Given the description of an element on the screen output the (x, y) to click on. 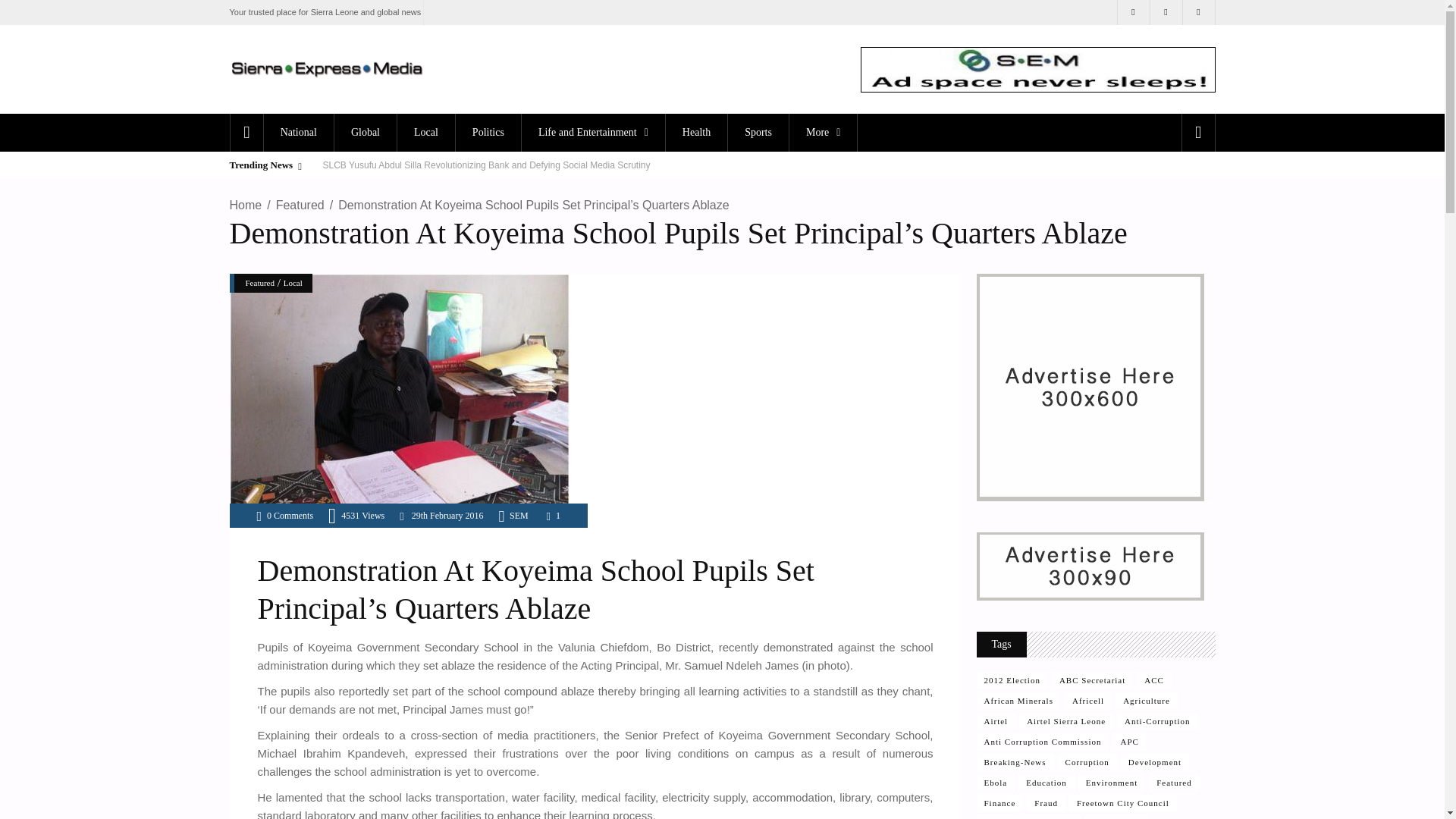
National (298, 132)
Politics (487, 132)
Life and Entertainment (593, 132)
Local (425, 132)
Global (364, 132)
